Given the description of an element on the screen output the (x, y) to click on. 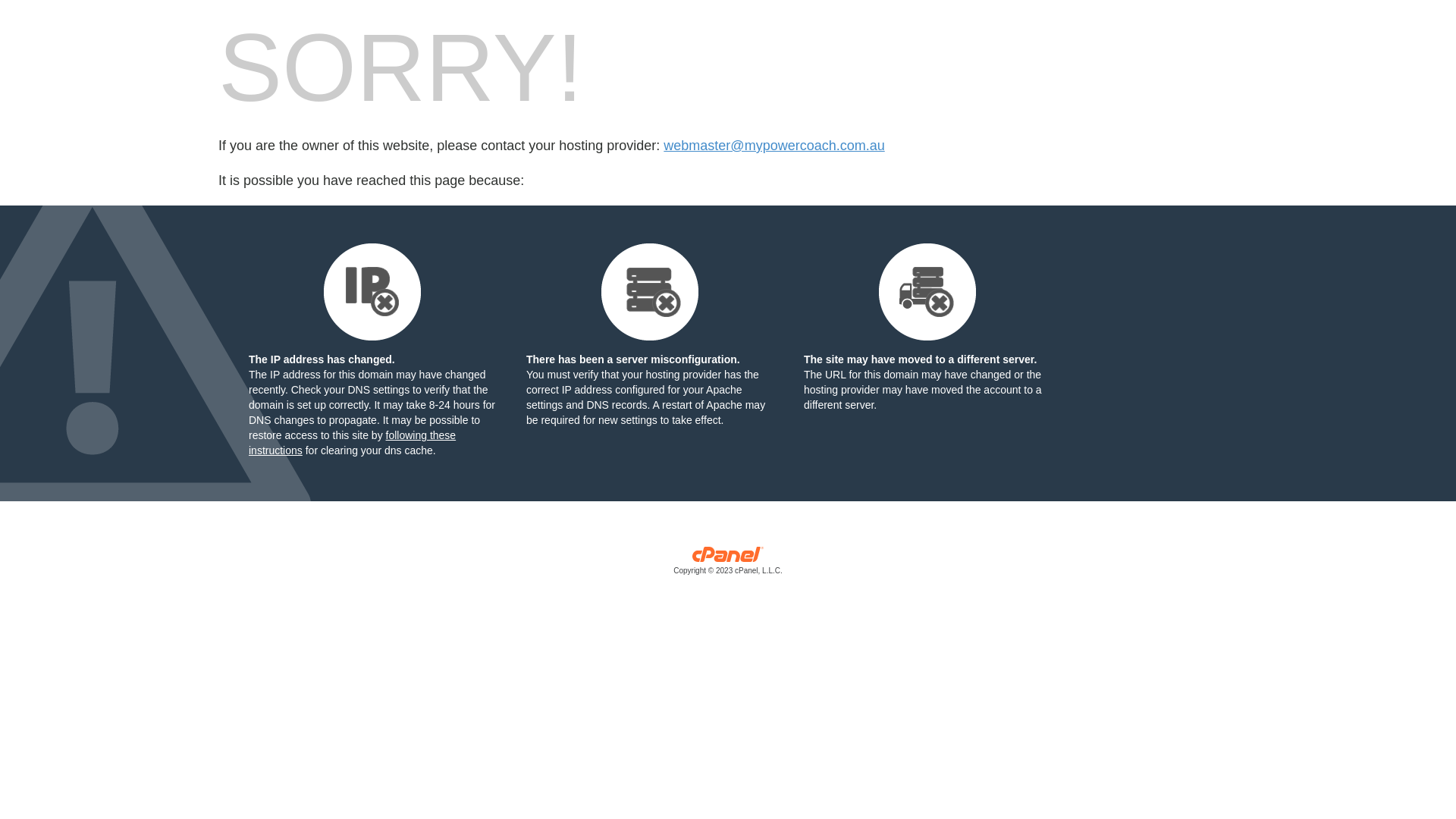
following these instructions Element type: text (351, 442)
webmaster@mypowercoach.com.au Element type: text (773, 145)
